Given the description of an element on the screen output the (x, y) to click on. 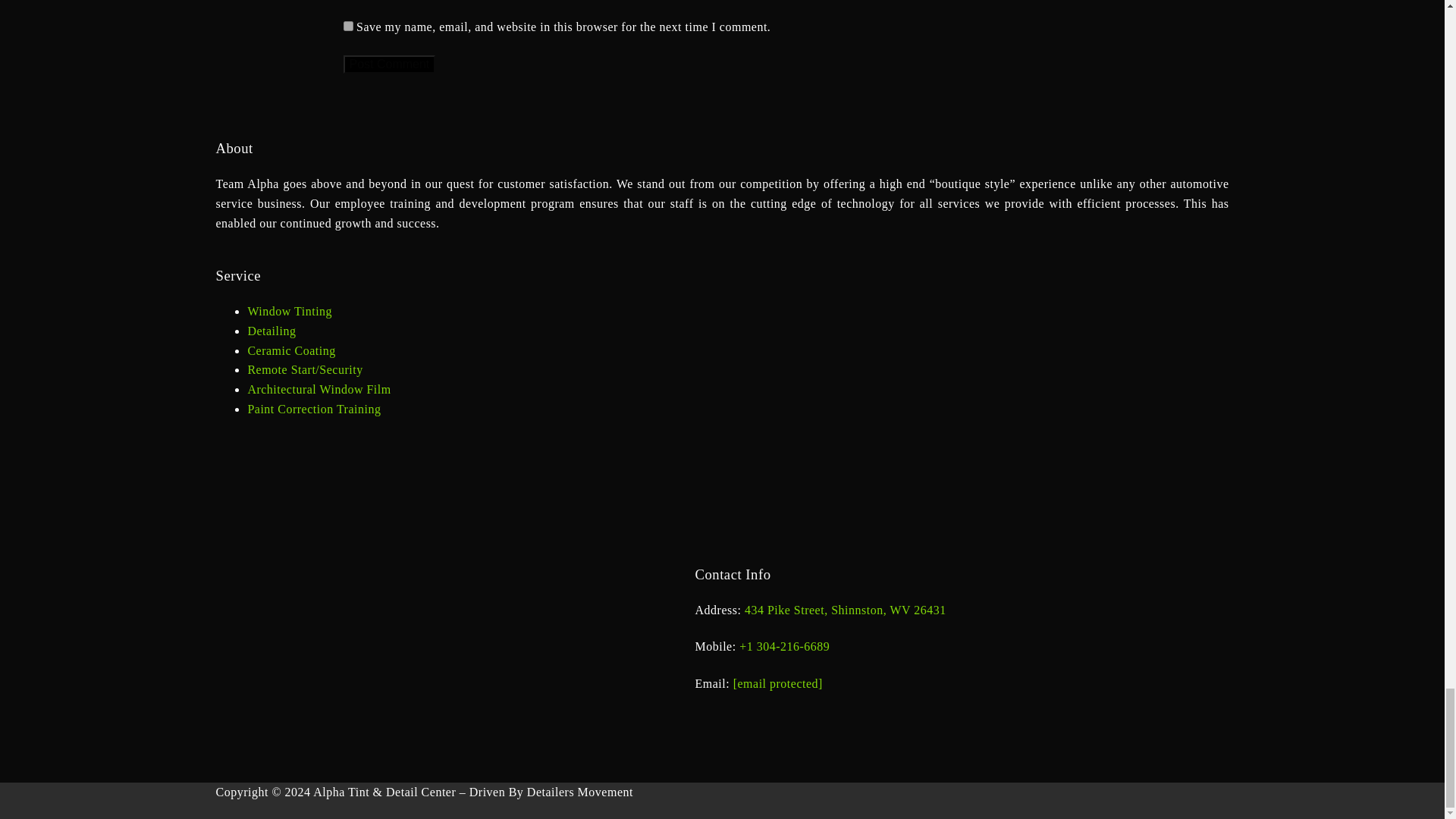
yes (347, 26)
Post Comment (388, 64)
